Given the description of an element on the screen output the (x, y) to click on. 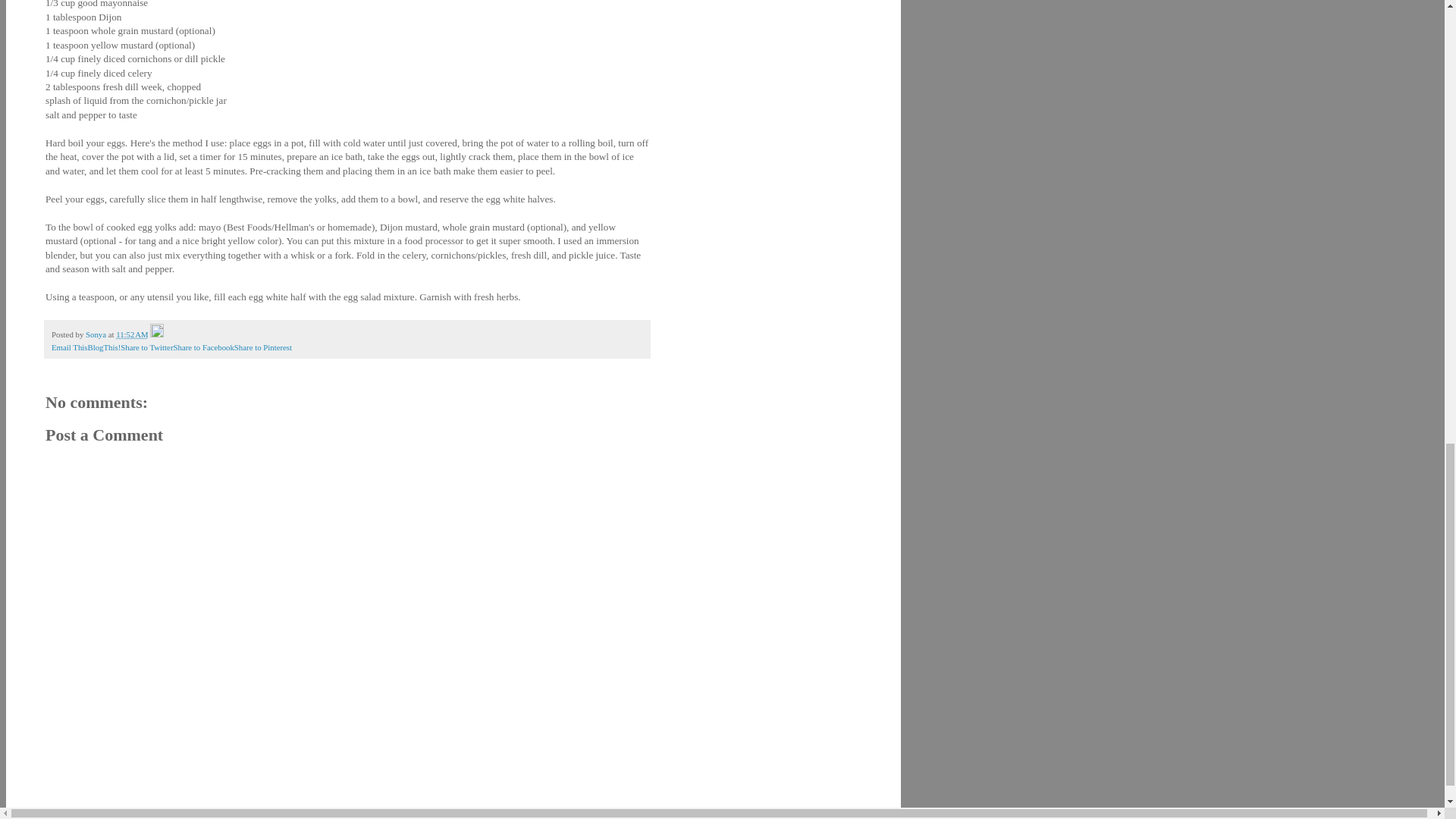
Share to Pinterest (263, 347)
Share to Facebook (202, 347)
Share to Pinterest (263, 347)
permanent link (132, 334)
Email This (68, 347)
Email This (68, 347)
Share to Facebook (202, 347)
Share to Twitter (146, 347)
Edit Post (156, 334)
BlogThis! (103, 347)
